Given the description of an element on the screen output the (x, y) to click on. 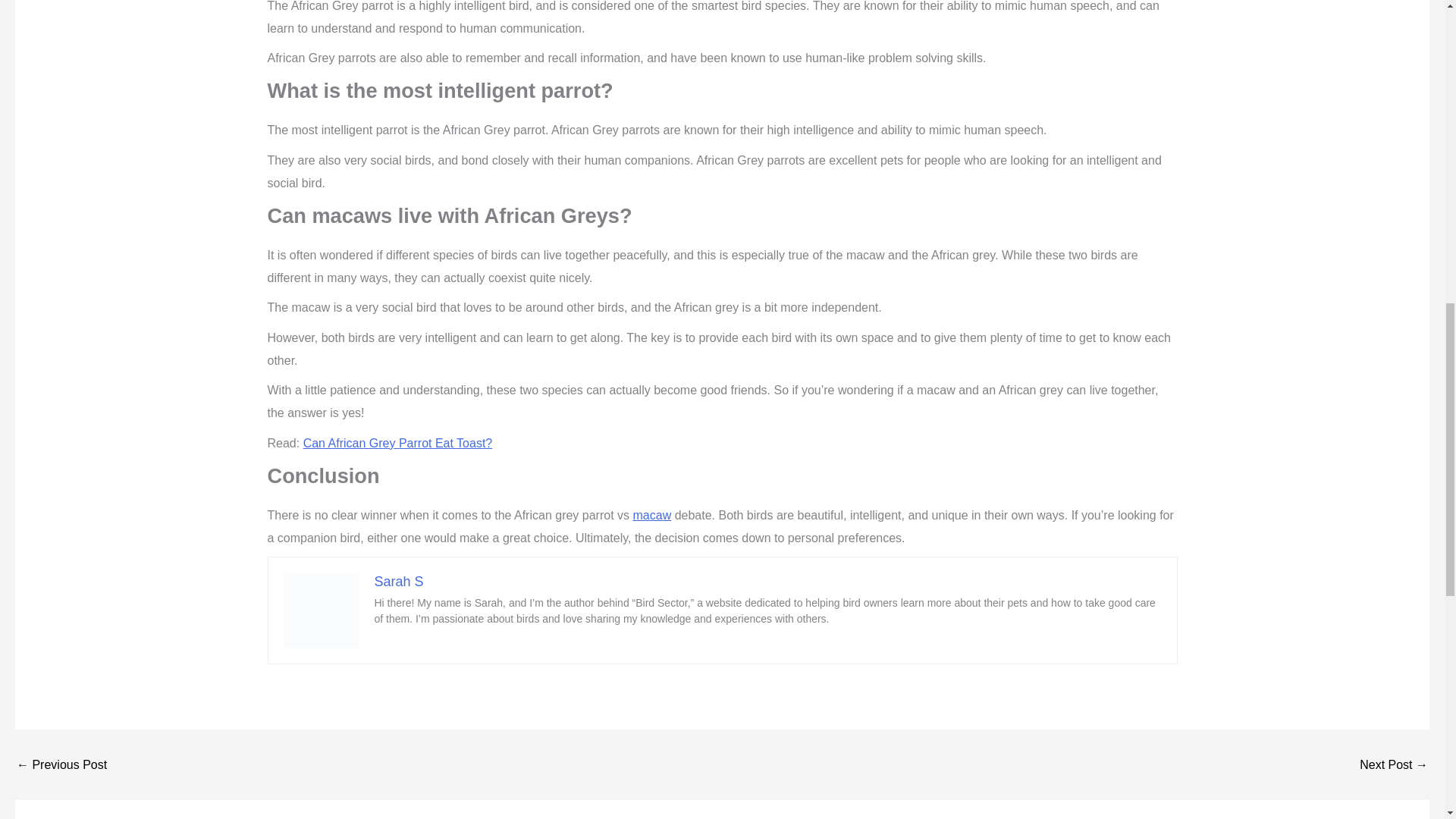
African Grey Parrot Facts (61, 765)
Can African Grey Parrot Eat Toast? (397, 442)
African Grey Parrot vs Cockatoo (1393, 765)
Sarah S (398, 581)
macaw (651, 514)
